Given the description of an element on the screen output the (x, y) to click on. 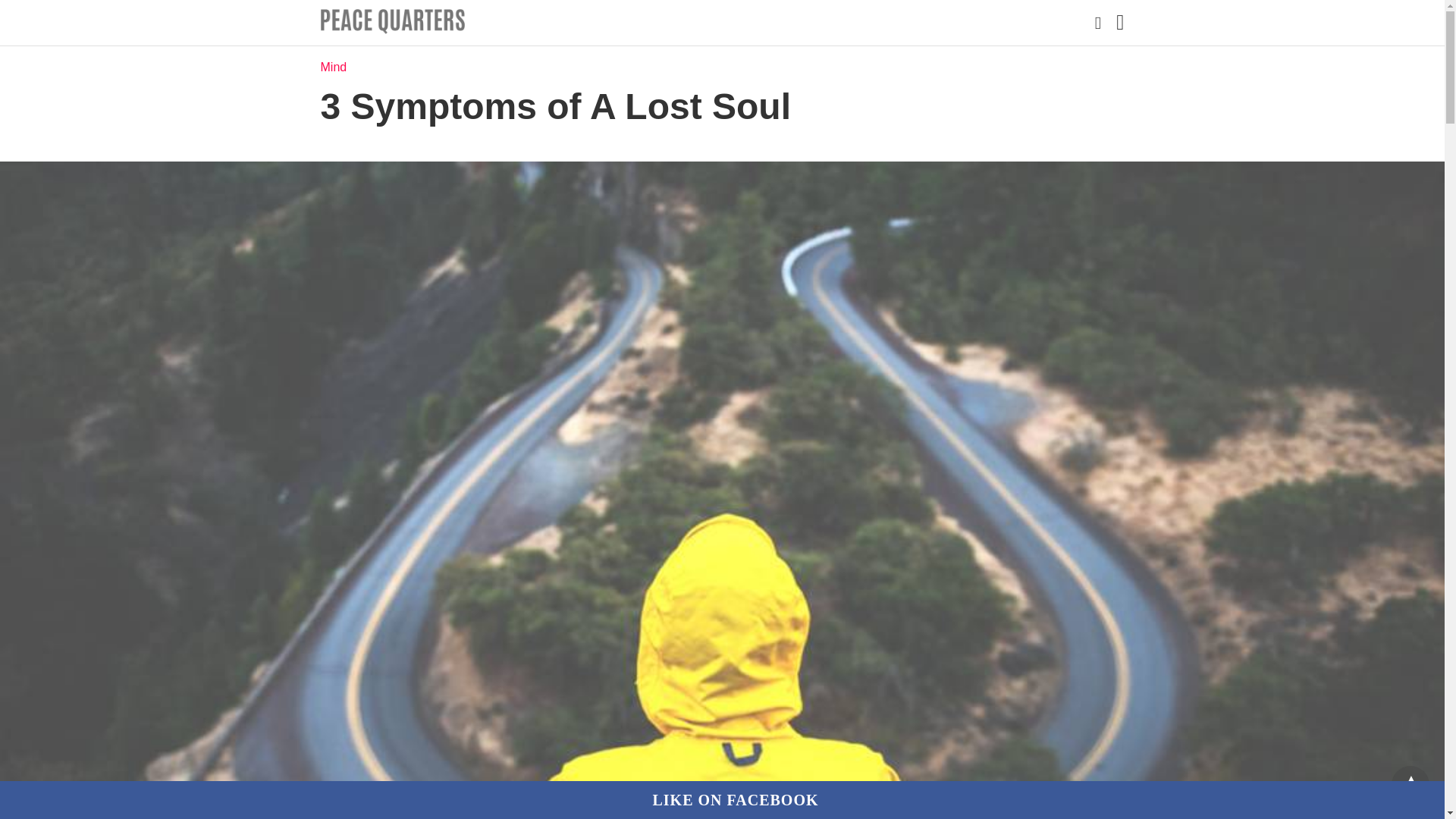
Mind (333, 66)
Mind (333, 66)
Peace Quarters (392, 21)
back to top (1410, 784)
